Given the description of an element on the screen output the (x, y) to click on. 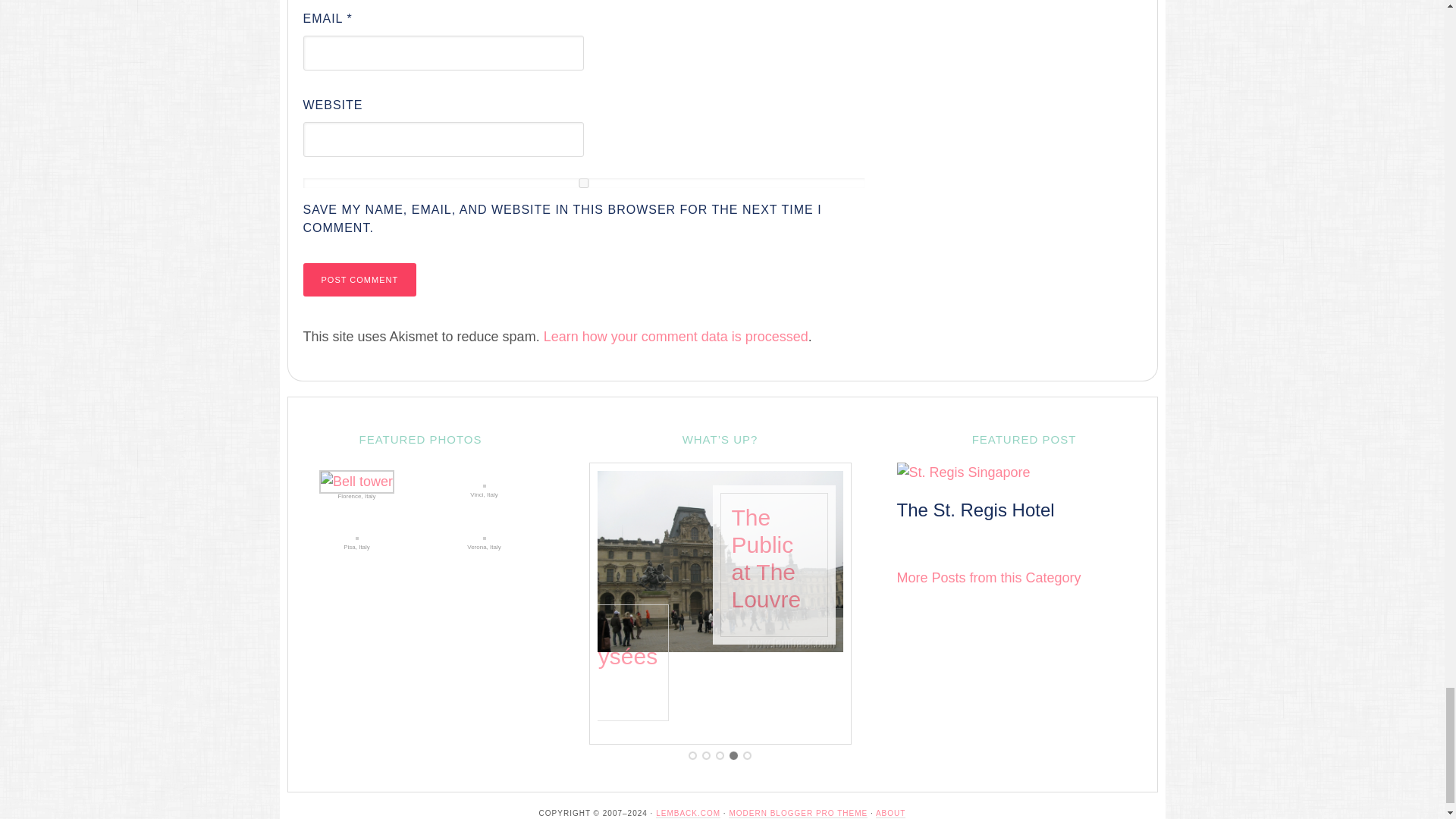
Hotel Finds (988, 577)
yes (583, 183)
Post Comment (359, 279)
